Given the description of an element on the screen output the (x, y) to click on. 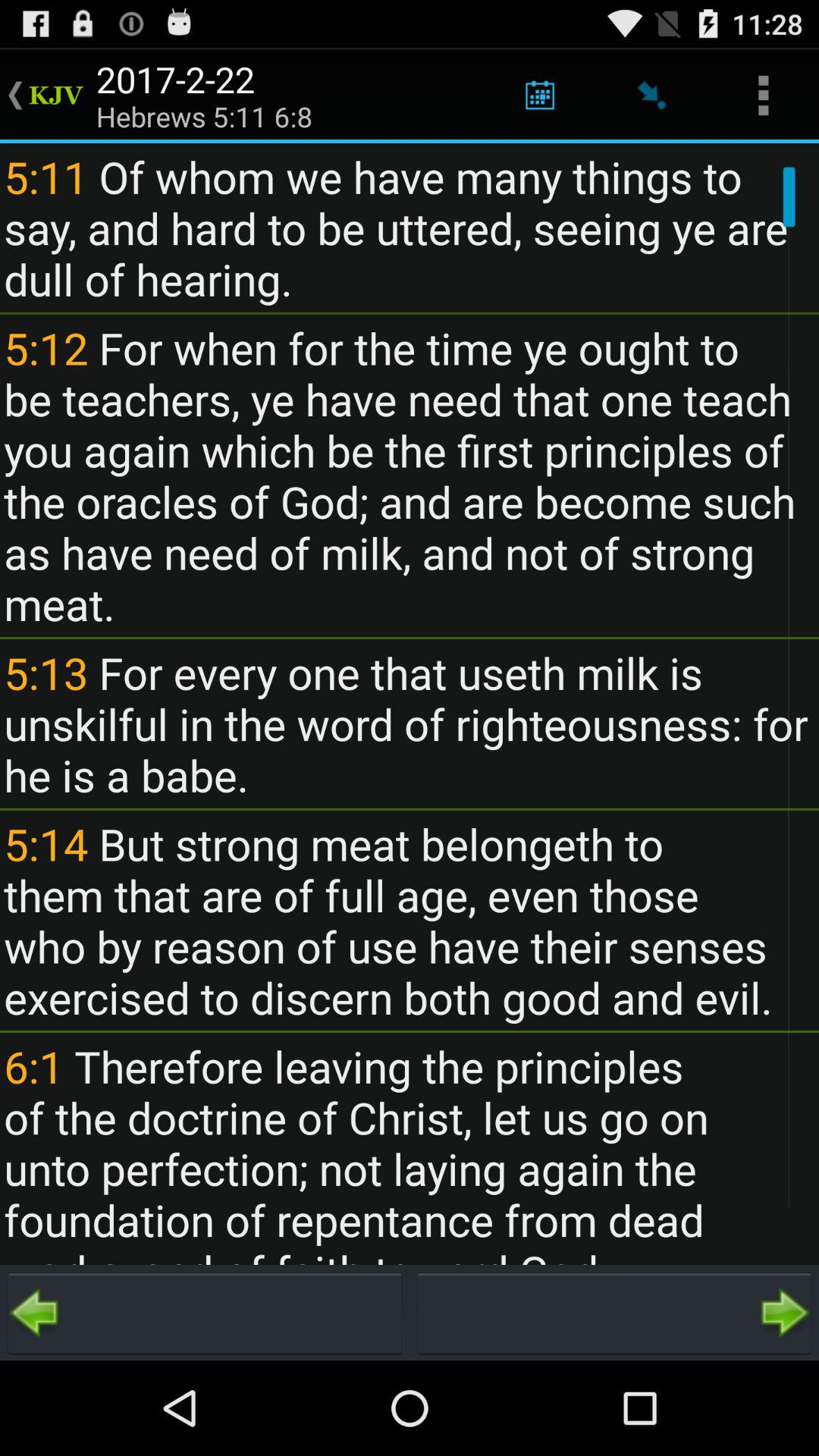
select the icon above the 5 11 of item (763, 95)
